Given the description of an element on the screen output the (x, y) to click on. 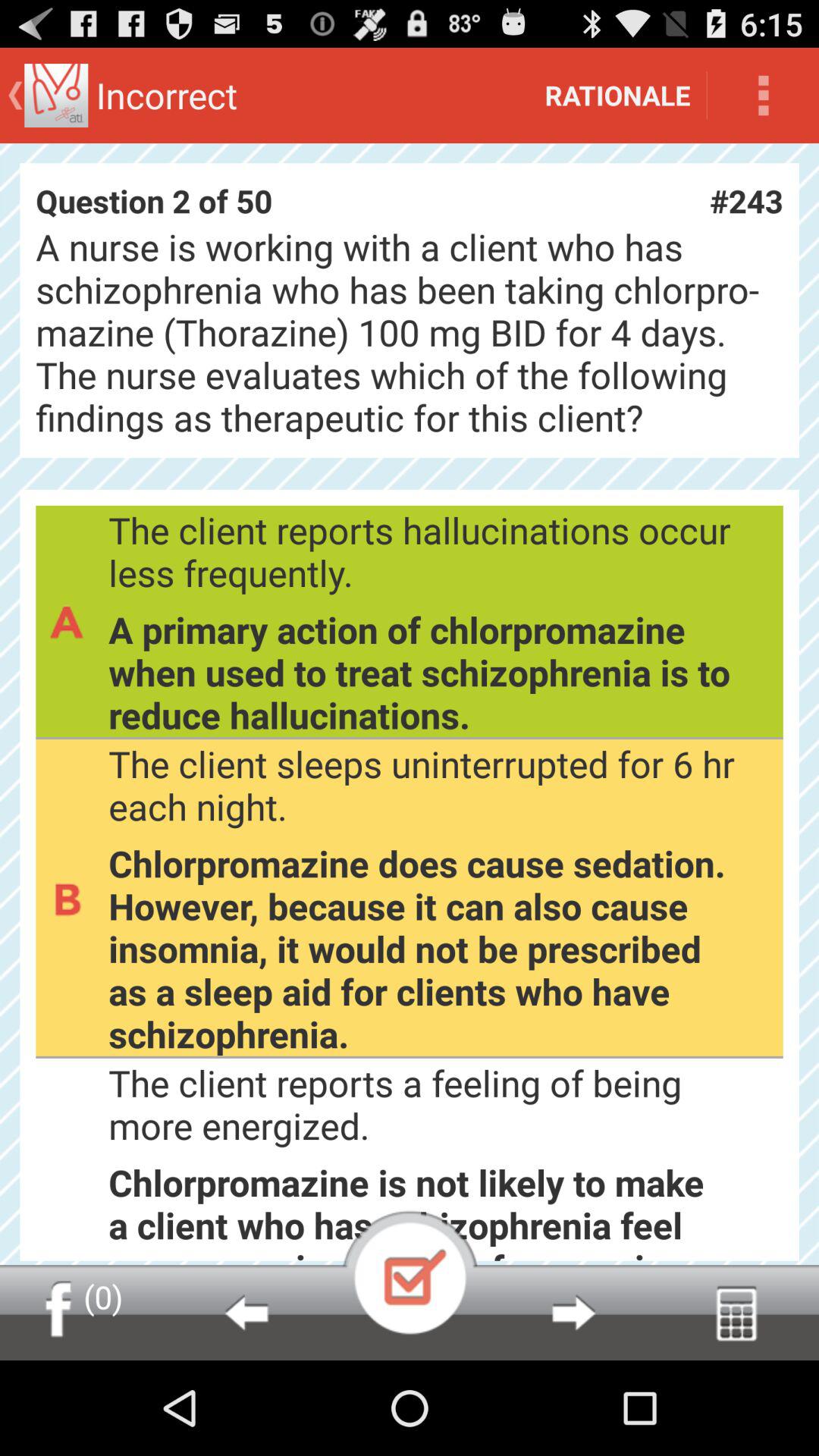
go ahead (573, 1312)
